Given the description of an element on the screen output the (x, y) to click on. 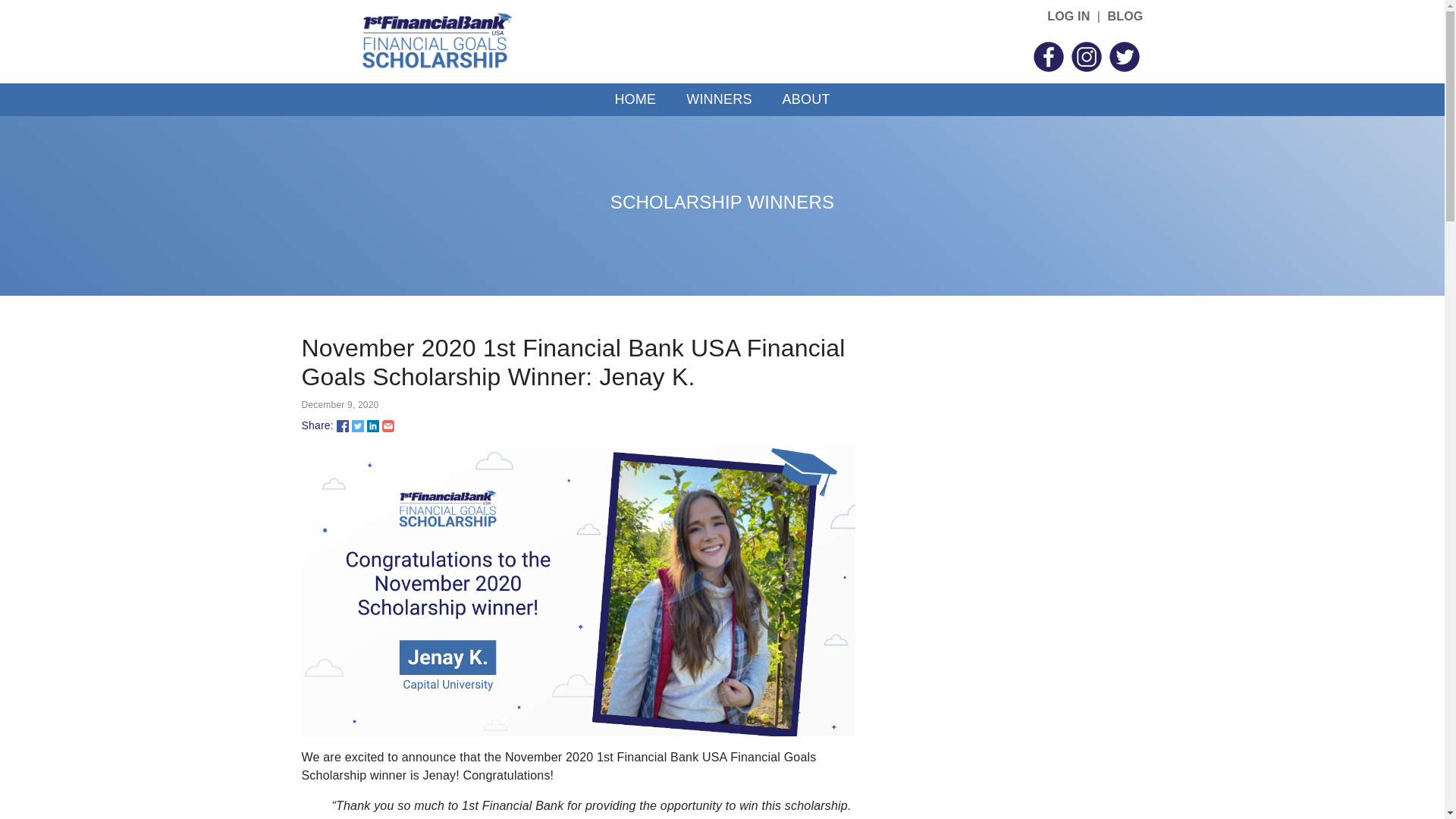
HOME Element type: text (635, 99)
BLOG Element type: text (1124, 15)
ABOUT Element type: text (806, 99)
Copy of scholarship logo Element type: hover (434, 41)
WINNERS Element type: text (718, 99)
LOG IN Element type: text (1068, 15)
